Given the description of an element on the screen output the (x, y) to click on. 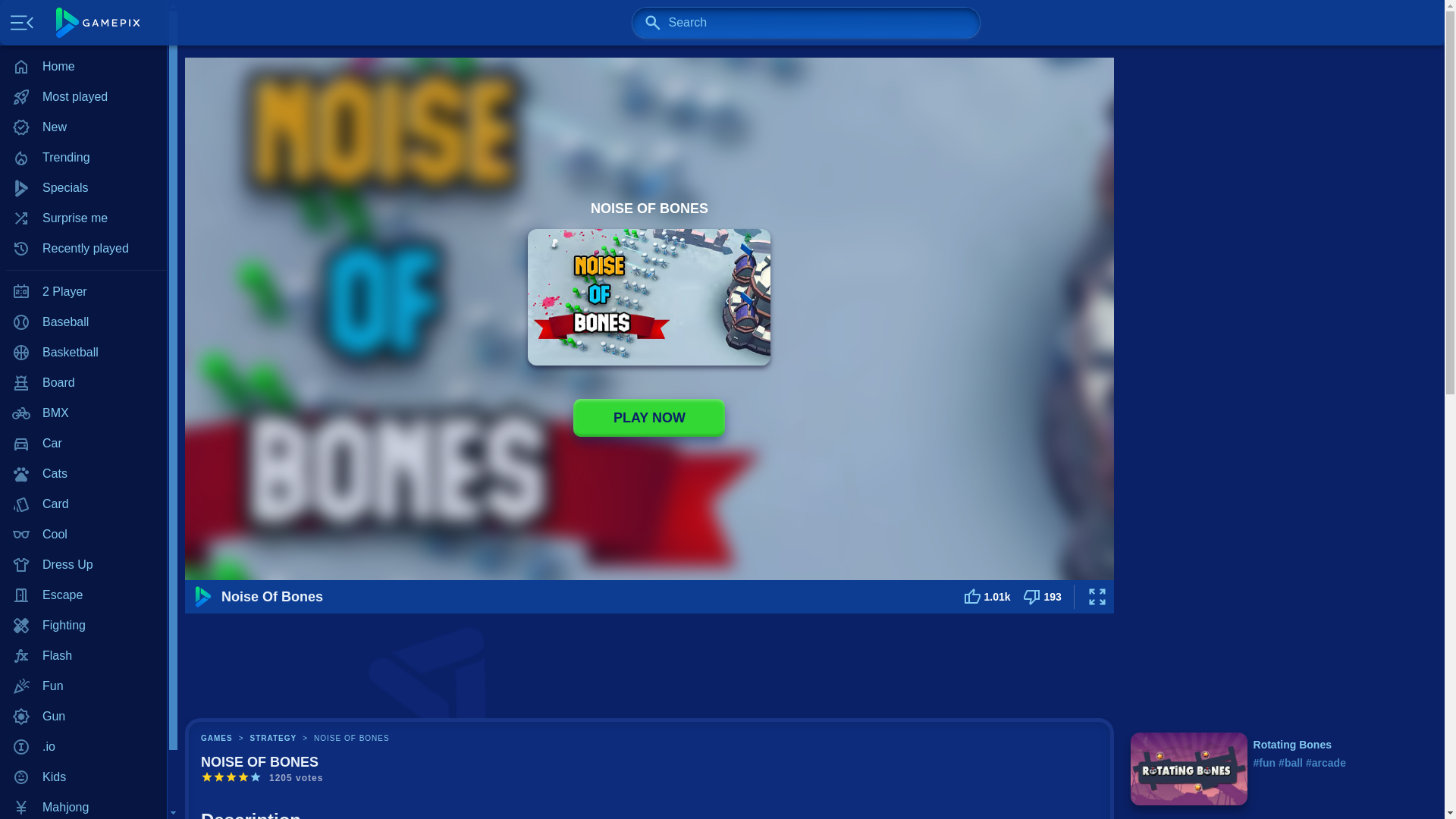
Kids (83, 777)
Specials (83, 187)
Fighting (83, 625)
.io (83, 747)
Mahjong (83, 805)
2 Player (83, 291)
Cool (83, 534)
Car (83, 443)
Flash (83, 655)
Board (83, 382)
New (83, 127)
Escape (83, 594)
Basketball (83, 352)
Cats (83, 473)
Most played (83, 96)
